Given the description of an element on the screen output the (x, y) to click on. 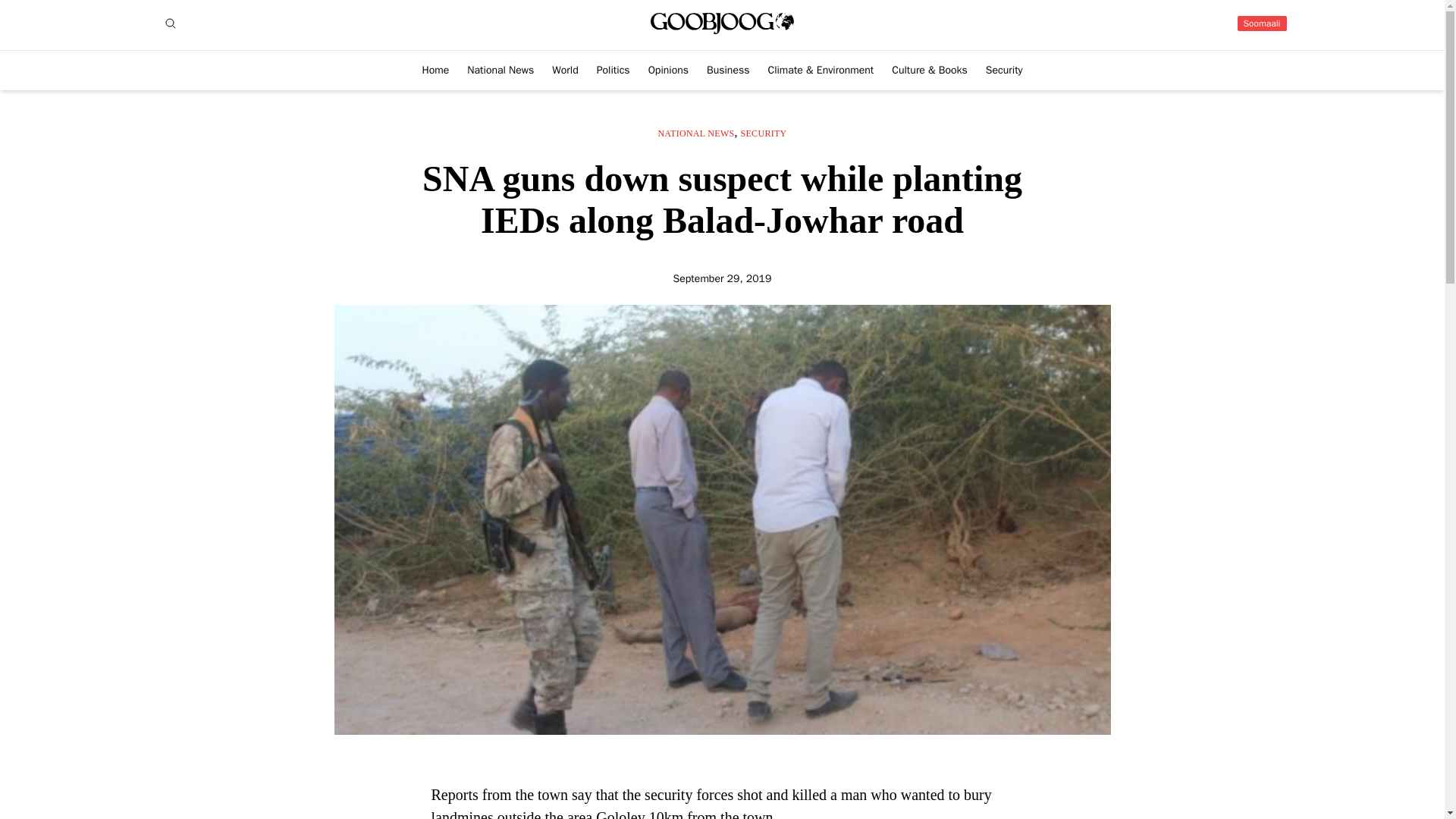
Opinions (667, 70)
Security (1004, 70)
Business (727, 70)
National News (500, 70)
SECURITY (764, 132)
NATIONAL NEWS (695, 132)
Soomaali (1262, 23)
Search on Goobjoog (169, 23)
